Given the description of an element on the screen output the (x, y) to click on. 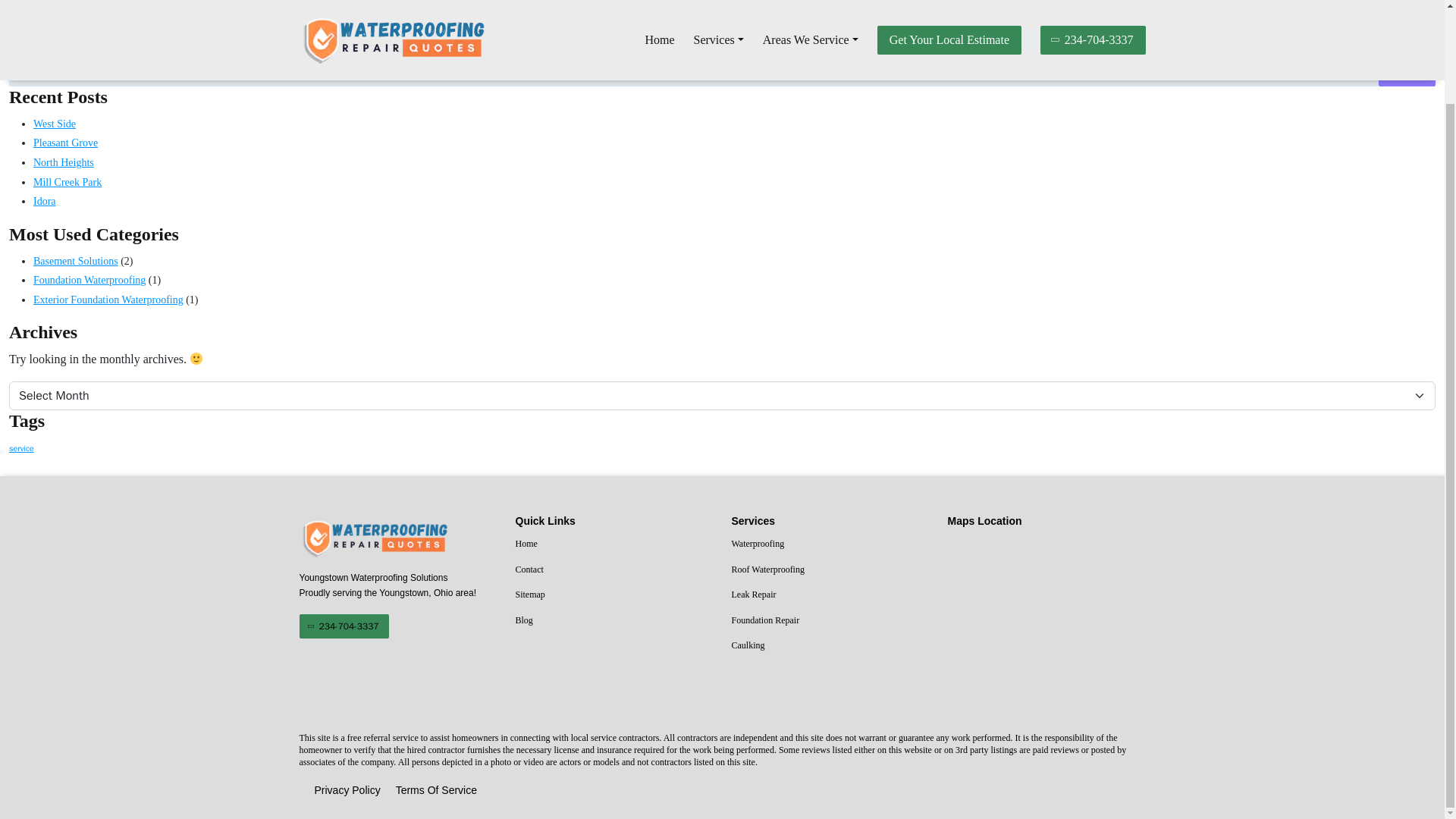
Home (614, 544)
Waterproofing (829, 544)
North Heights (63, 162)
Search (1406, 71)
234-704-3337 (343, 626)
Contact (614, 569)
Roof Waterproofing (829, 569)
service (20, 448)
West Side (54, 123)
Search (1406, 71)
